Given the description of an element on the screen output the (x, y) to click on. 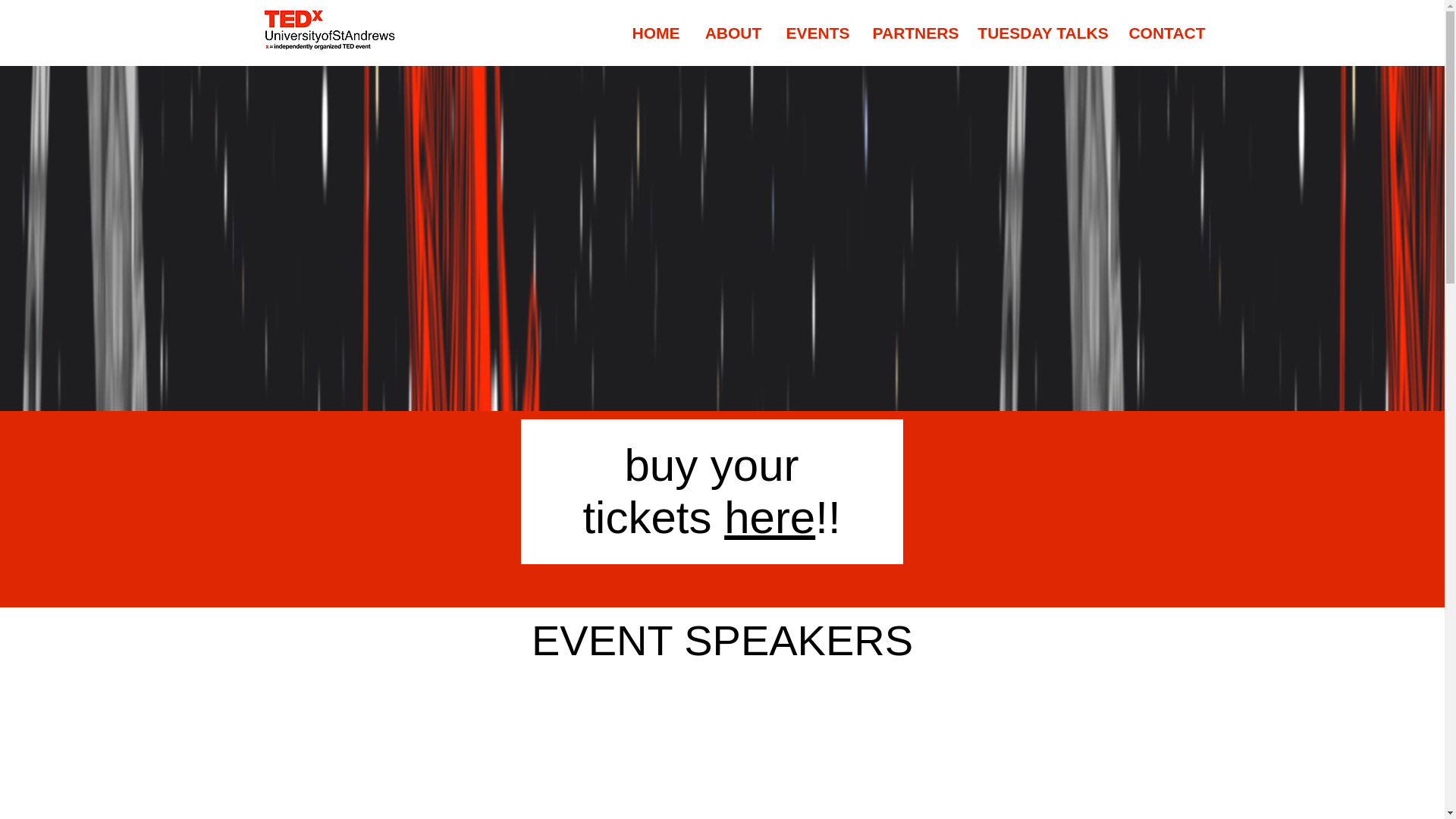
ABOUT (733, 33)
CONTACT (1166, 33)
PARTNERS (915, 33)
here (769, 517)
HOME (655, 33)
TUESDAY TALKS (1042, 33)
EVENTS (817, 33)
